Given the description of an element on the screen output the (x, y) to click on. 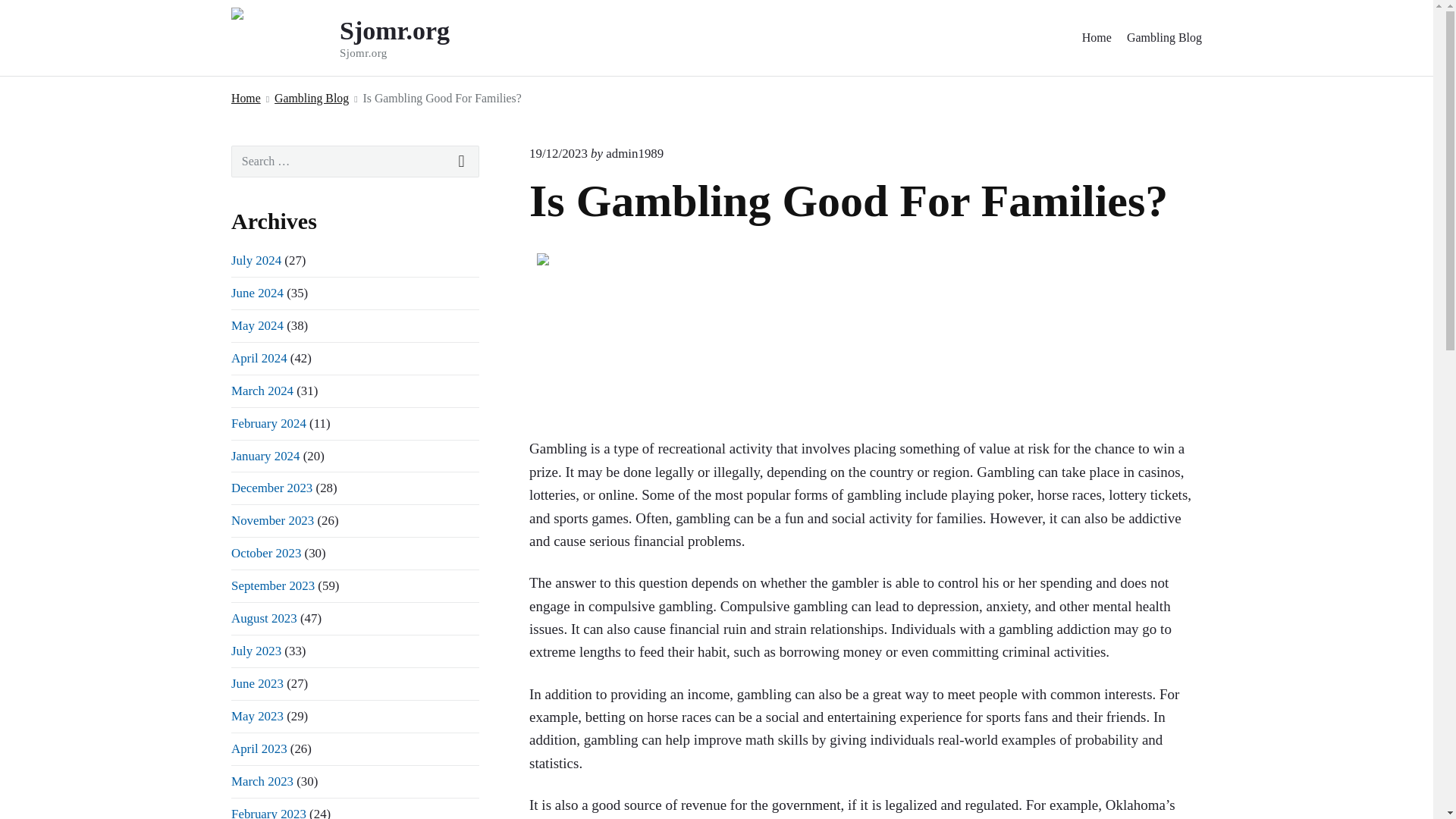
February 2023 (268, 812)
SEARCH (462, 161)
admin1989 (634, 153)
January 2024 (265, 455)
April 2024 (258, 358)
March 2023 (262, 780)
April 2023 (258, 748)
May 2024 (257, 325)
November 2023 (272, 520)
October 2023 (266, 553)
July 2023 (256, 650)
Gambling Blog (312, 97)
Tuesday, December 19, 2023, 4:35 am (558, 153)
June 2024 (257, 292)
September 2023 (272, 585)
